Given the description of an element on the screen output the (x, y) to click on. 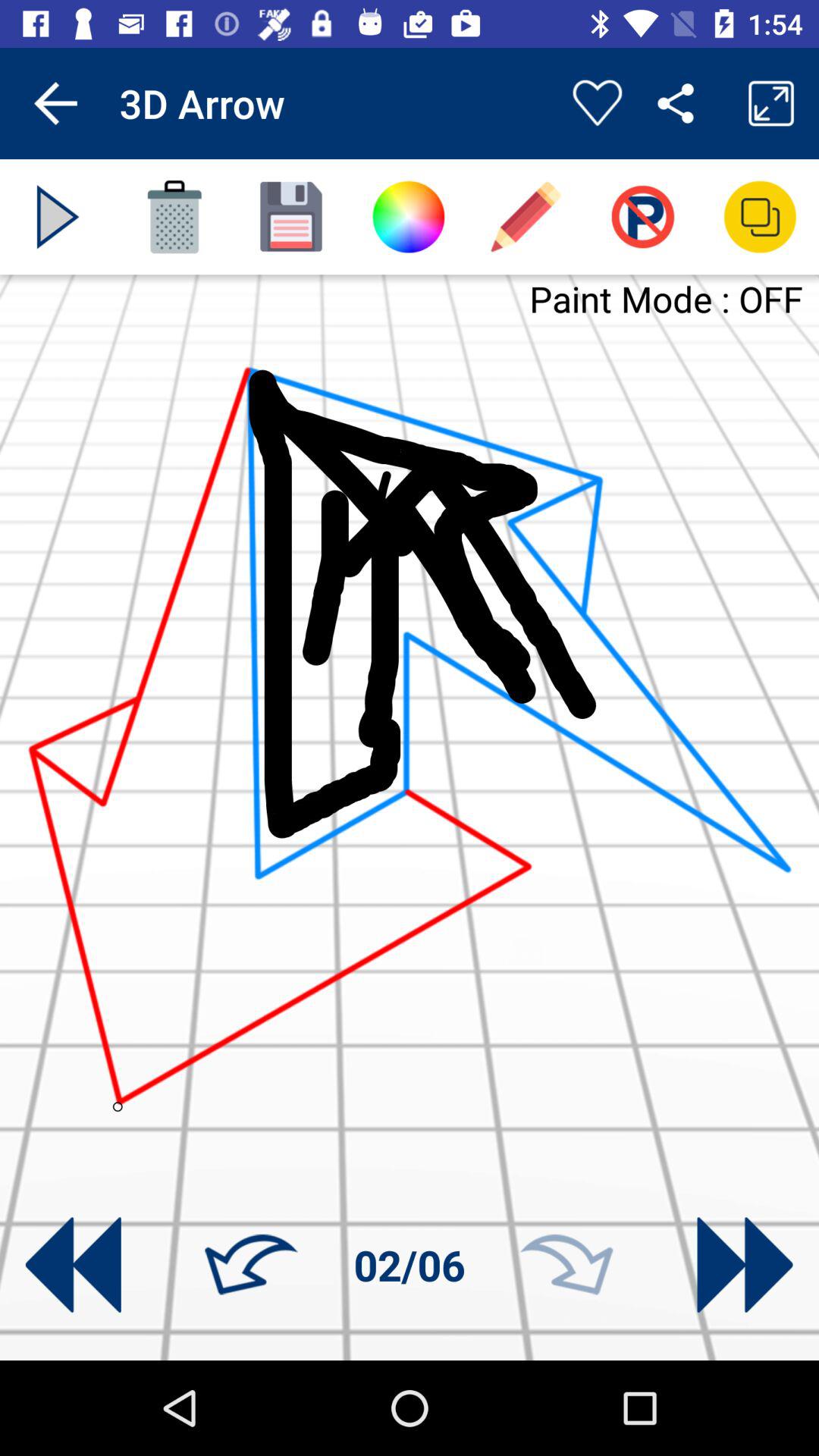
launch icon next to 3d arrow app (55, 103)
